Given the description of an element on the screen output the (x, y) to click on. 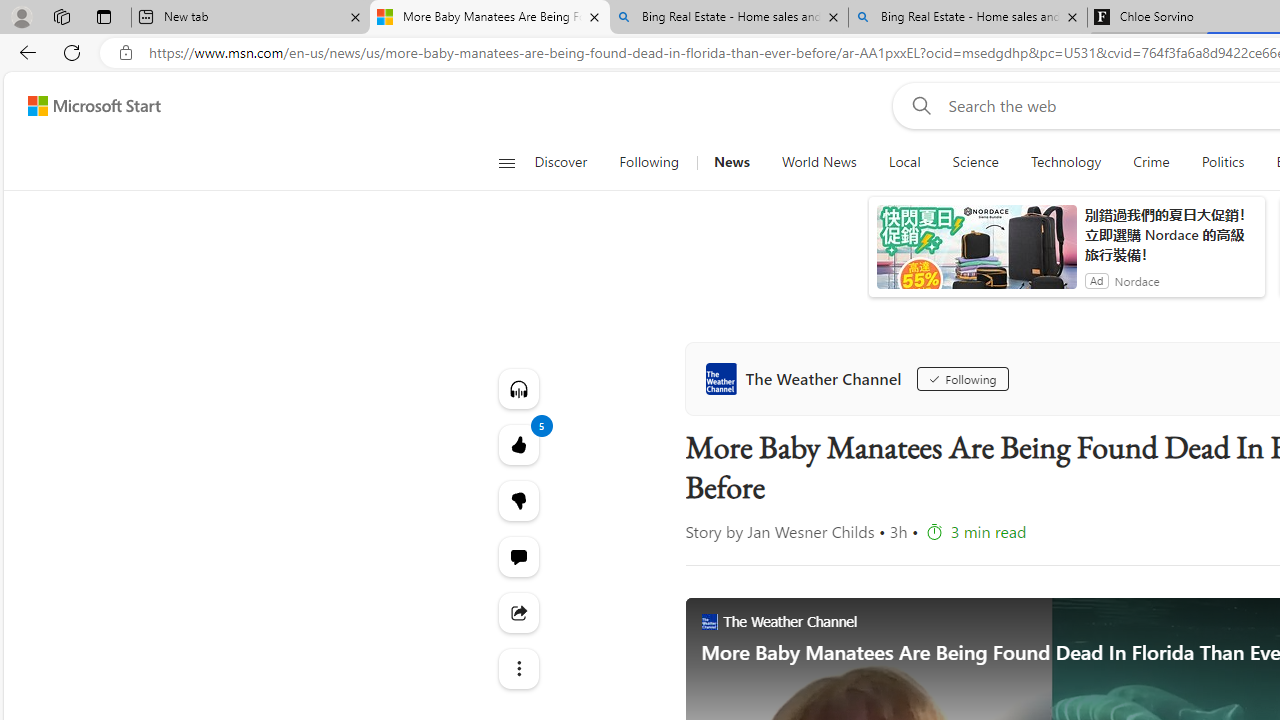
Science (975, 162)
Local (904, 162)
News (731, 162)
Crime (1150, 162)
Start the conversation (517, 556)
Politics (1222, 162)
The Weather Channel (807, 378)
Skip to footer (82, 105)
